Given the description of an element on the screen output the (x, y) to click on. 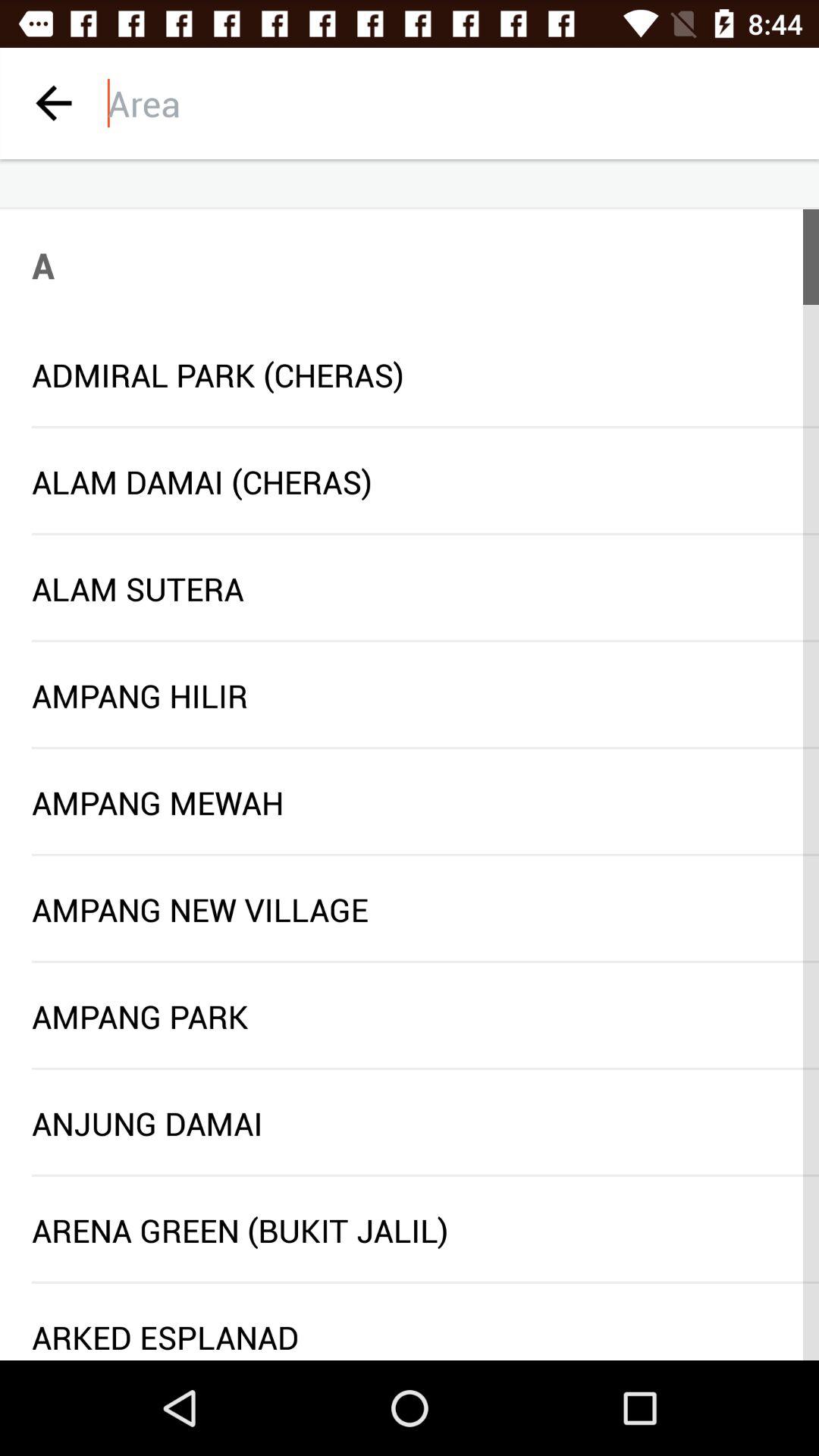
area input box (463, 103)
